Given the description of an element on the screen output the (x, y) to click on. 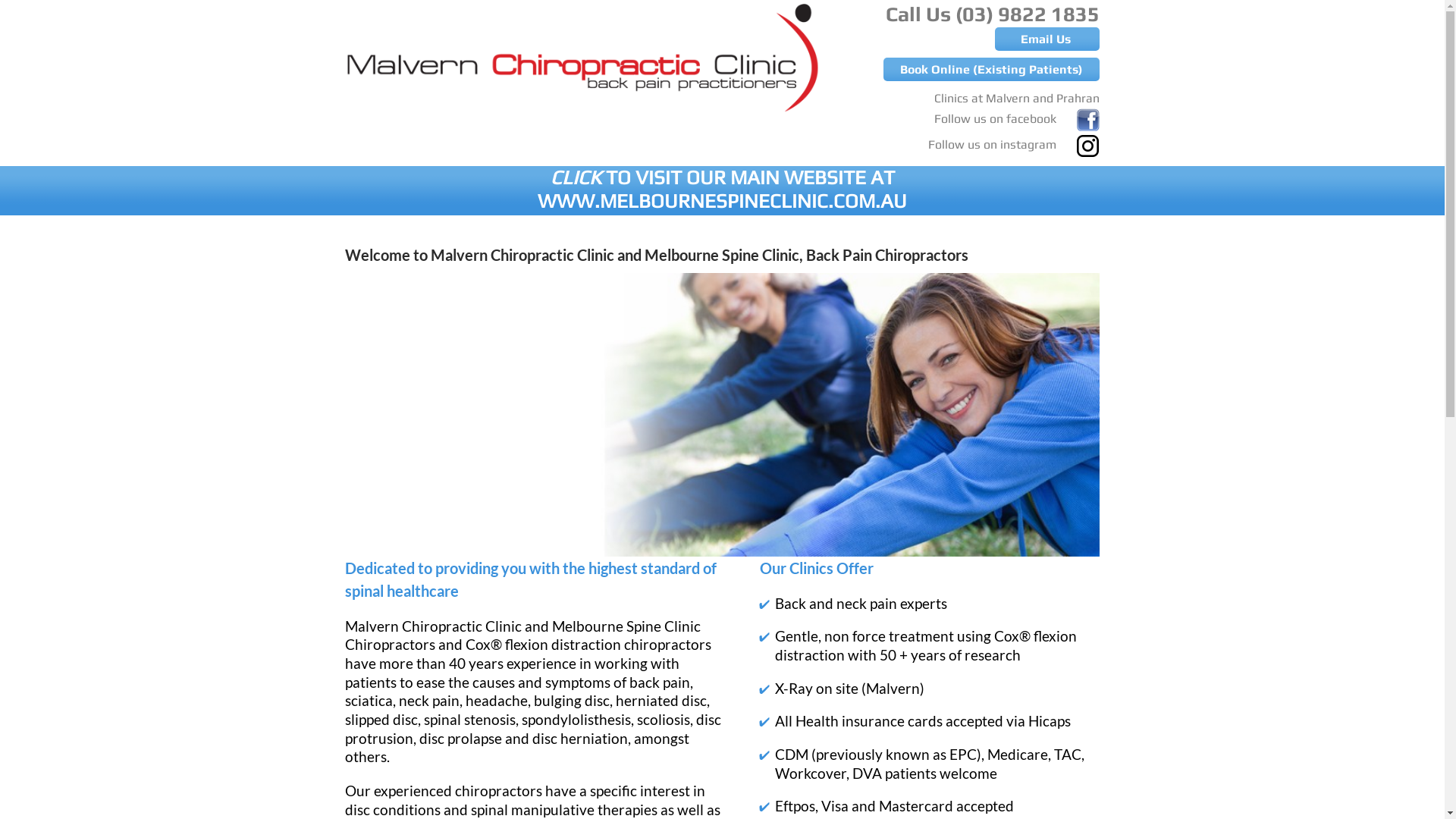
Follow us on facebook Element type: text (1016, 115)
(03) 9822 1835 Element type: text (1027, 13)
   Email Us     Element type: text (1046, 38)
Follow us on instagram Element type: text (1013, 141)
Book Online (Existing Patients) Element type: text (991, 69)
